Given the description of an element on the screen output the (x, y) to click on. 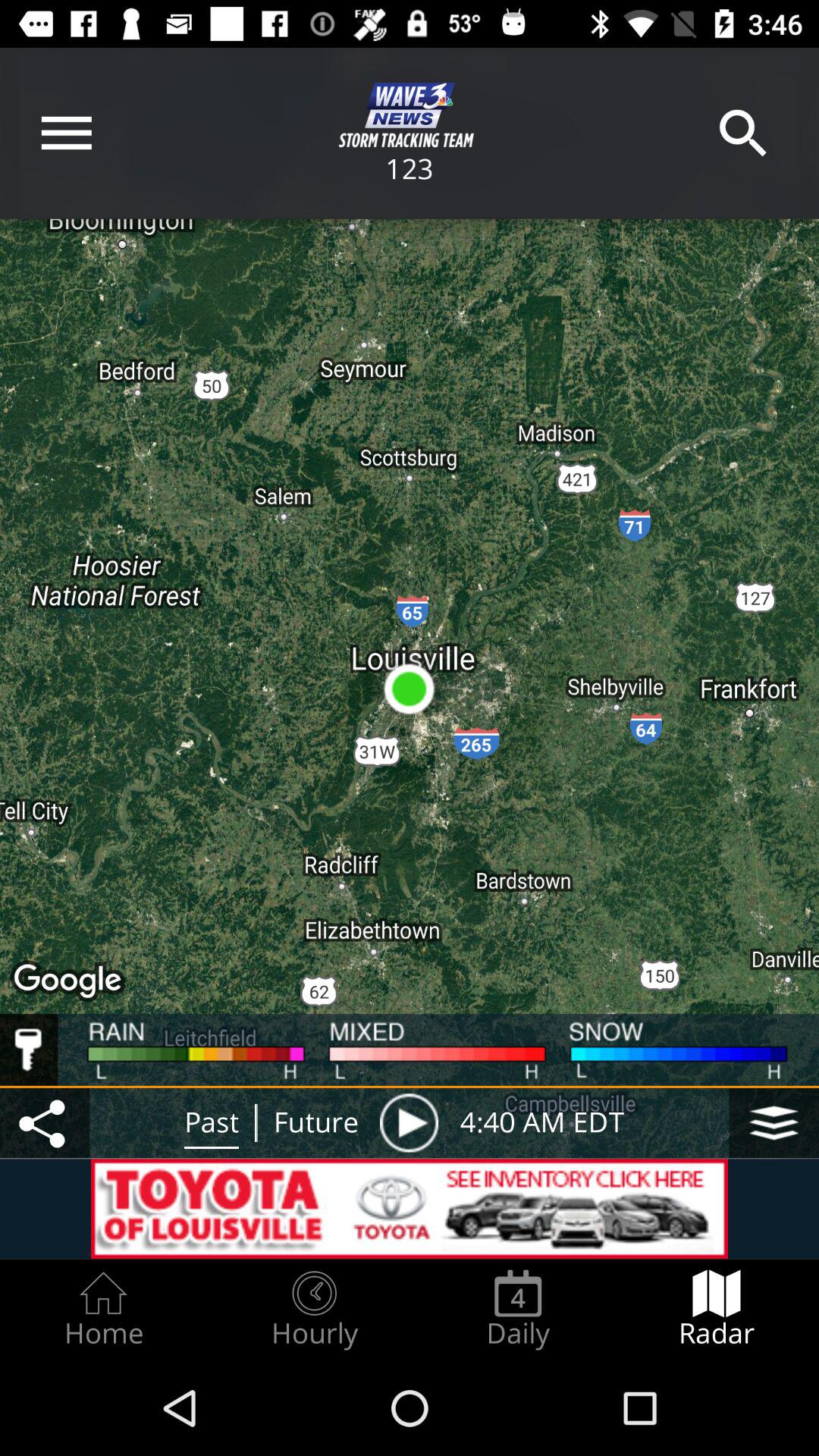
press home icon (103, 1309)
